Given the description of an element on the screen output the (x, y) to click on. 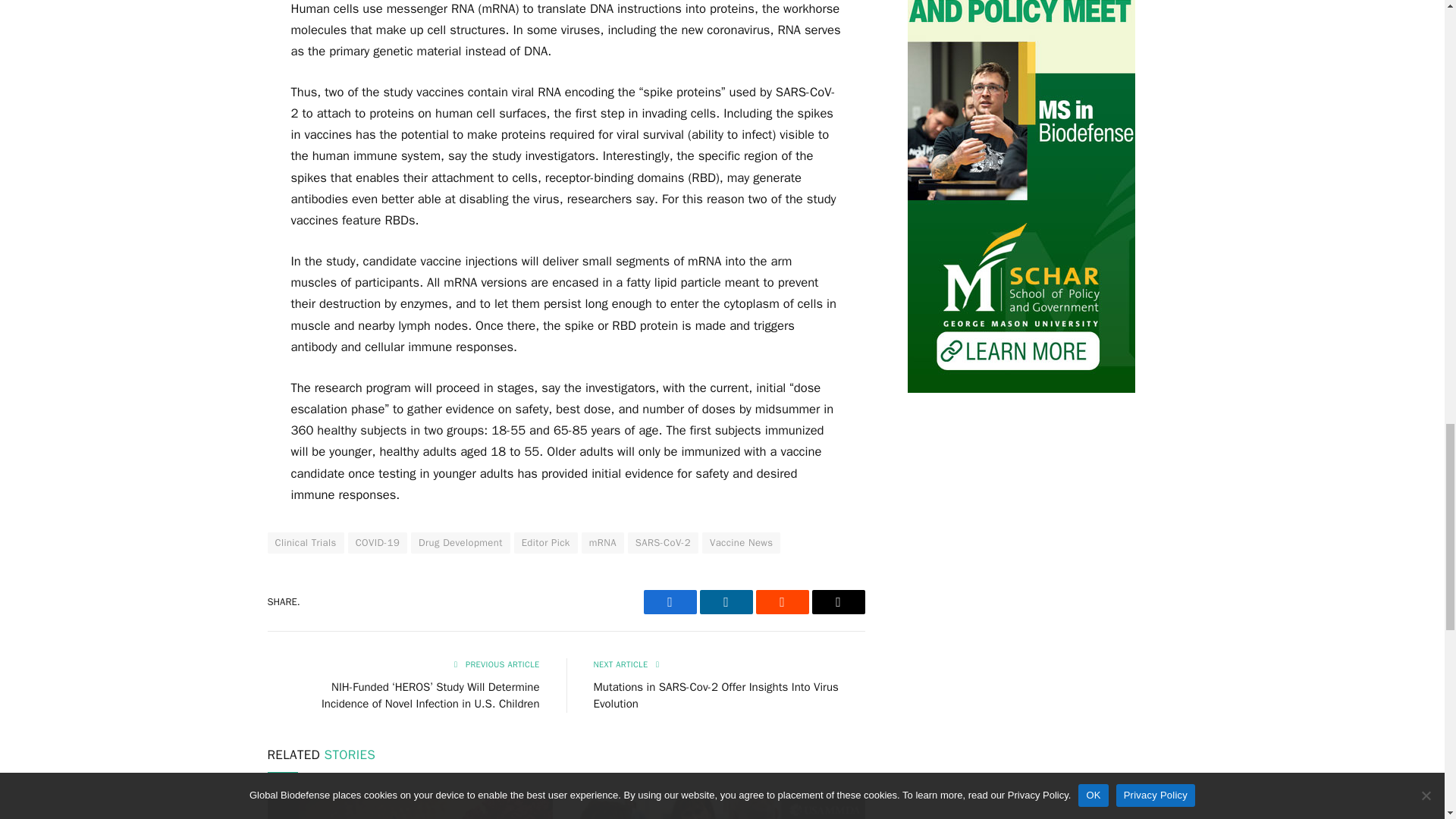
Email (837, 601)
Editor Pick (545, 542)
mRNA (602, 542)
Facebook (669, 601)
Clinical Trials (304, 542)
Mutations in SARS-Cov-2 Offer Insights Into Virus Evolution (715, 695)
LinkedIn (725, 601)
COVID-19 (377, 542)
Share on Facebook (669, 601)
Vaccine News (740, 542)
Drug Development (460, 542)
SARS-CoV-2 (662, 542)
Reddit (781, 601)
